Given the description of an element on the screen output the (x, y) to click on. 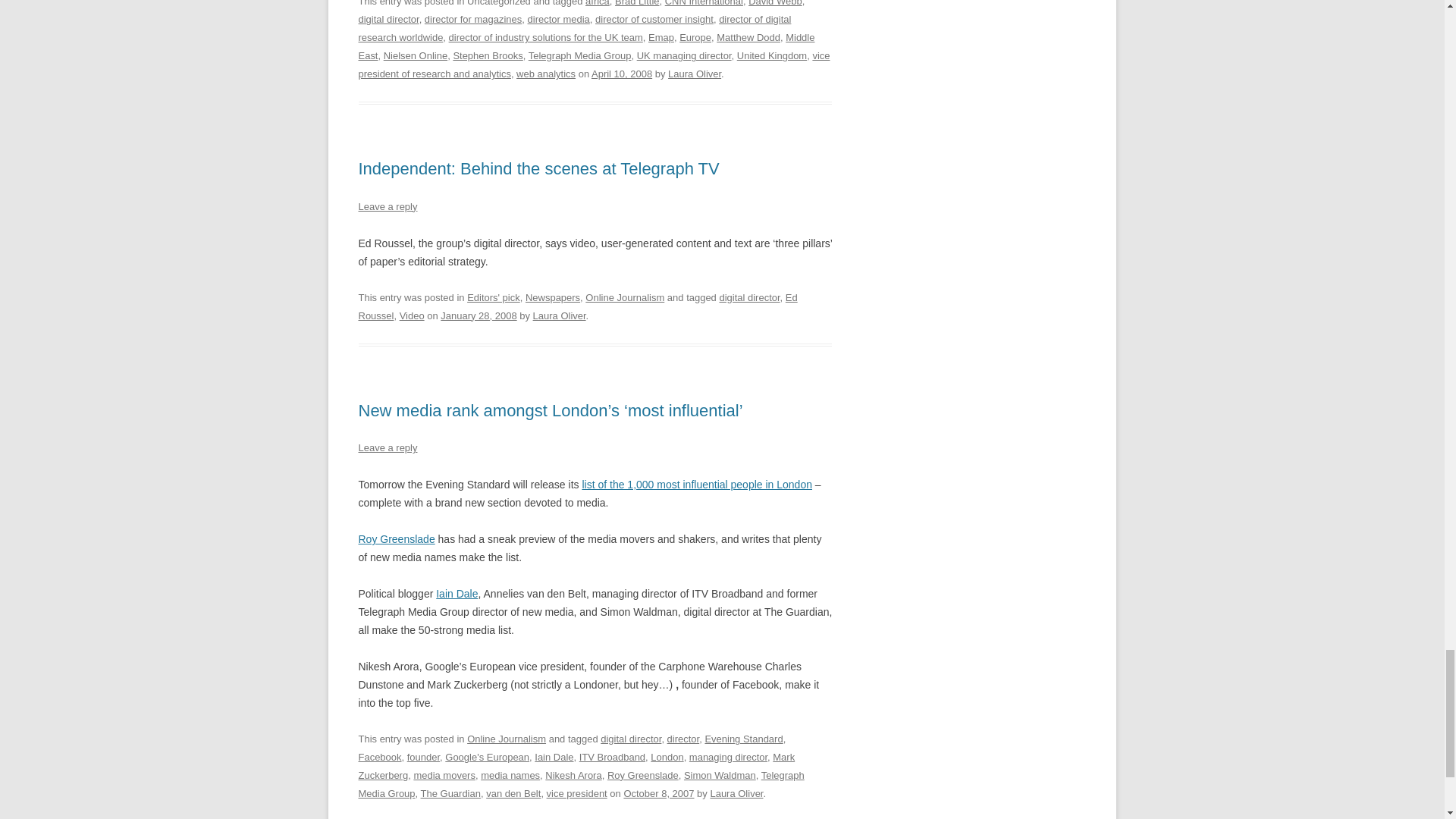
4:17 pm (621, 73)
12:48 am (478, 315)
View all posts by Laura Oliver (694, 73)
